Given the description of an element on the screen output the (x, y) to click on. 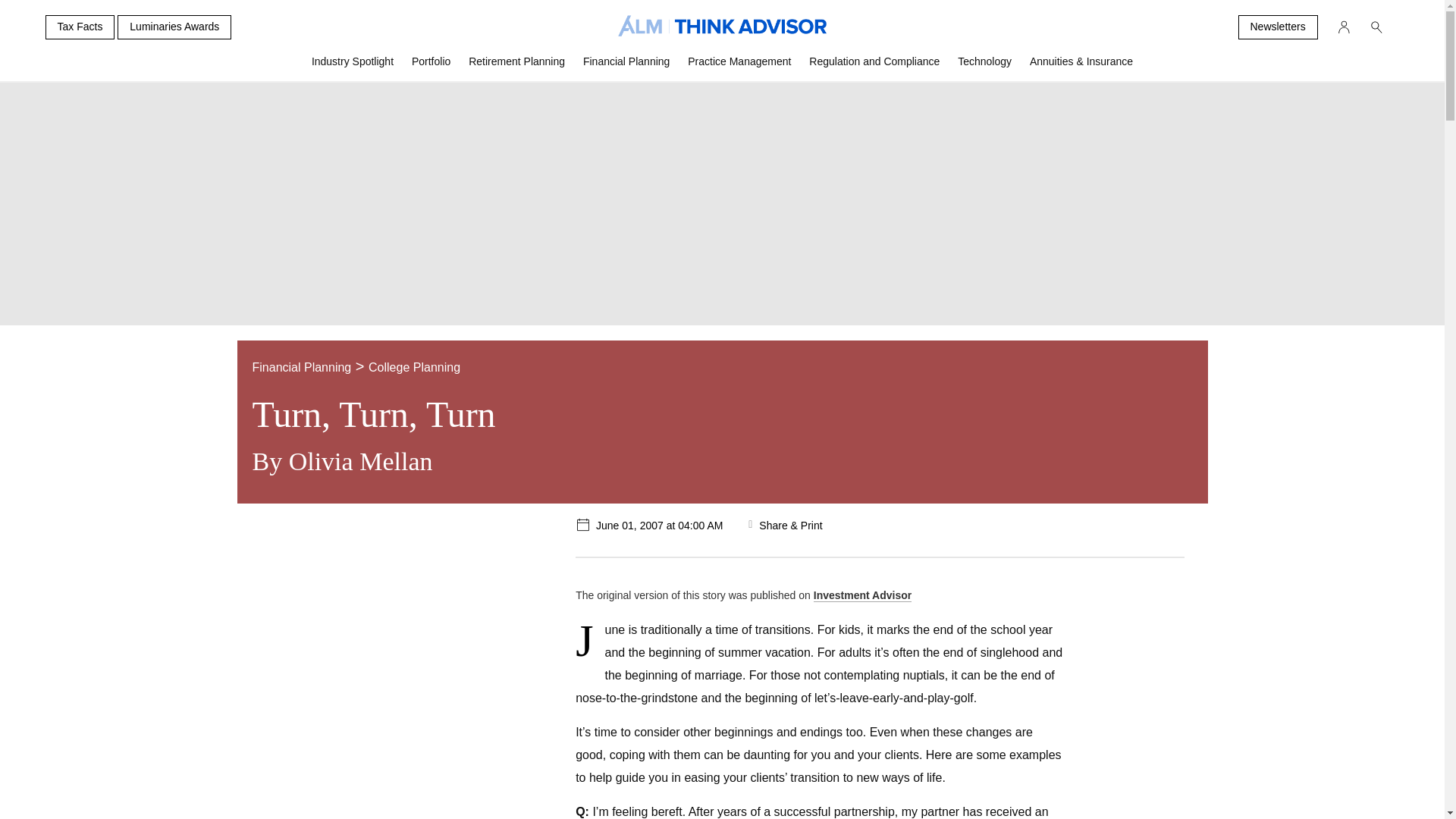
Newsletters (1277, 27)
Industry Spotlight (352, 67)
Luminaries Awards (174, 27)
Tax Facts (80, 27)
